Given the description of an element on the screen output the (x, y) to click on. 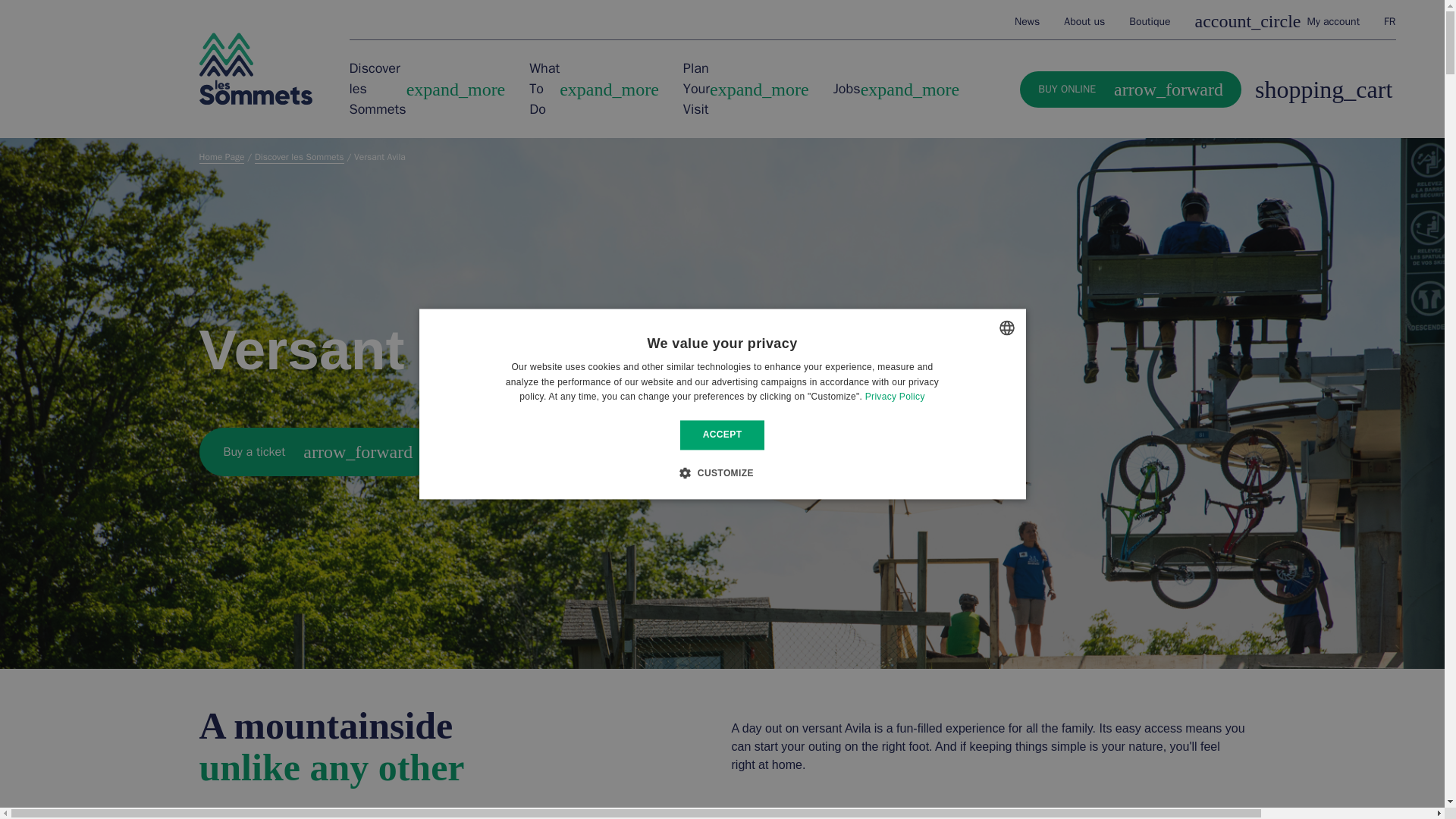
News (255, 68)
FR (1027, 19)
About us (1389, 21)
Boutique (1083, 19)
